Given the description of an element on the screen output the (x, y) to click on. 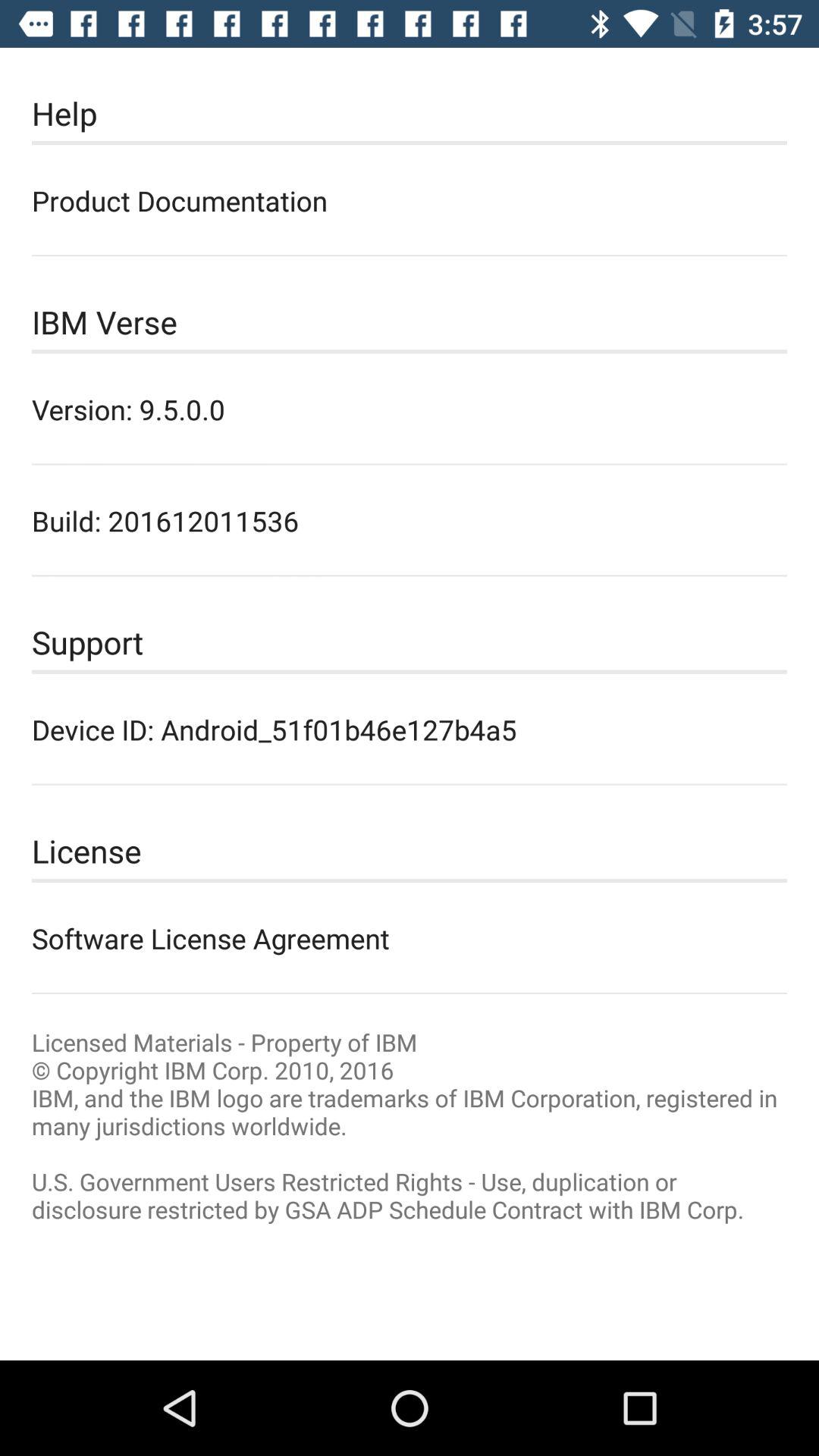
flip until product documentation item (409, 200)
